Given the description of an element on the screen output the (x, y) to click on. 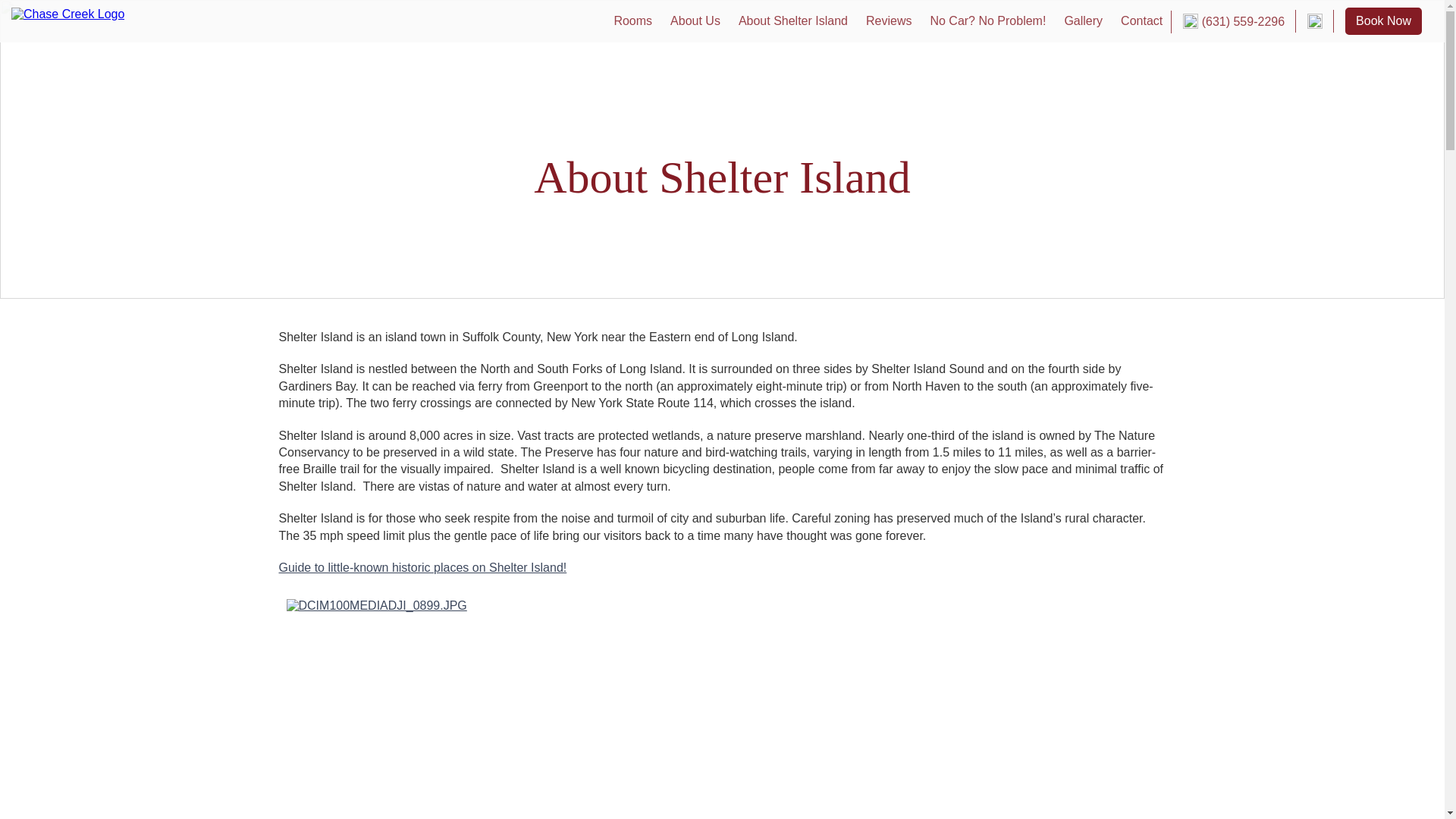
Rooms (632, 20)
Contact (1142, 20)
About Us (695, 20)
Guide to little-known historic places on Shelter Island! (423, 567)
About Shelter Island (793, 20)
Gallery (1083, 20)
Reviews (888, 20)
Book Now (1383, 21)
No Car? No Problem! (987, 20)
